Given the description of an element on the screen output the (x, y) to click on. 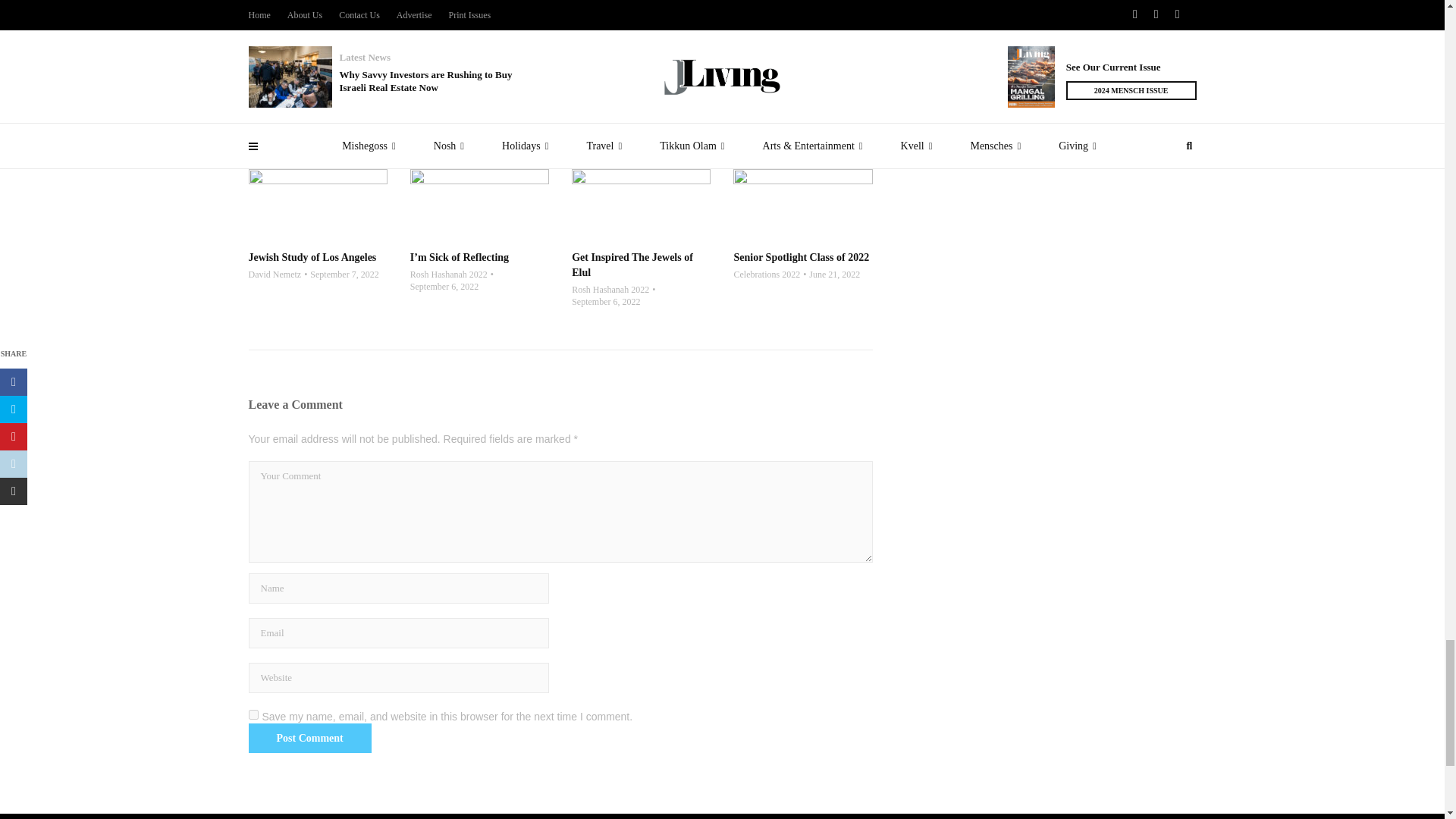
yes (253, 714)
Post Comment (309, 738)
